Given the description of an element on the screen output the (x, y) to click on. 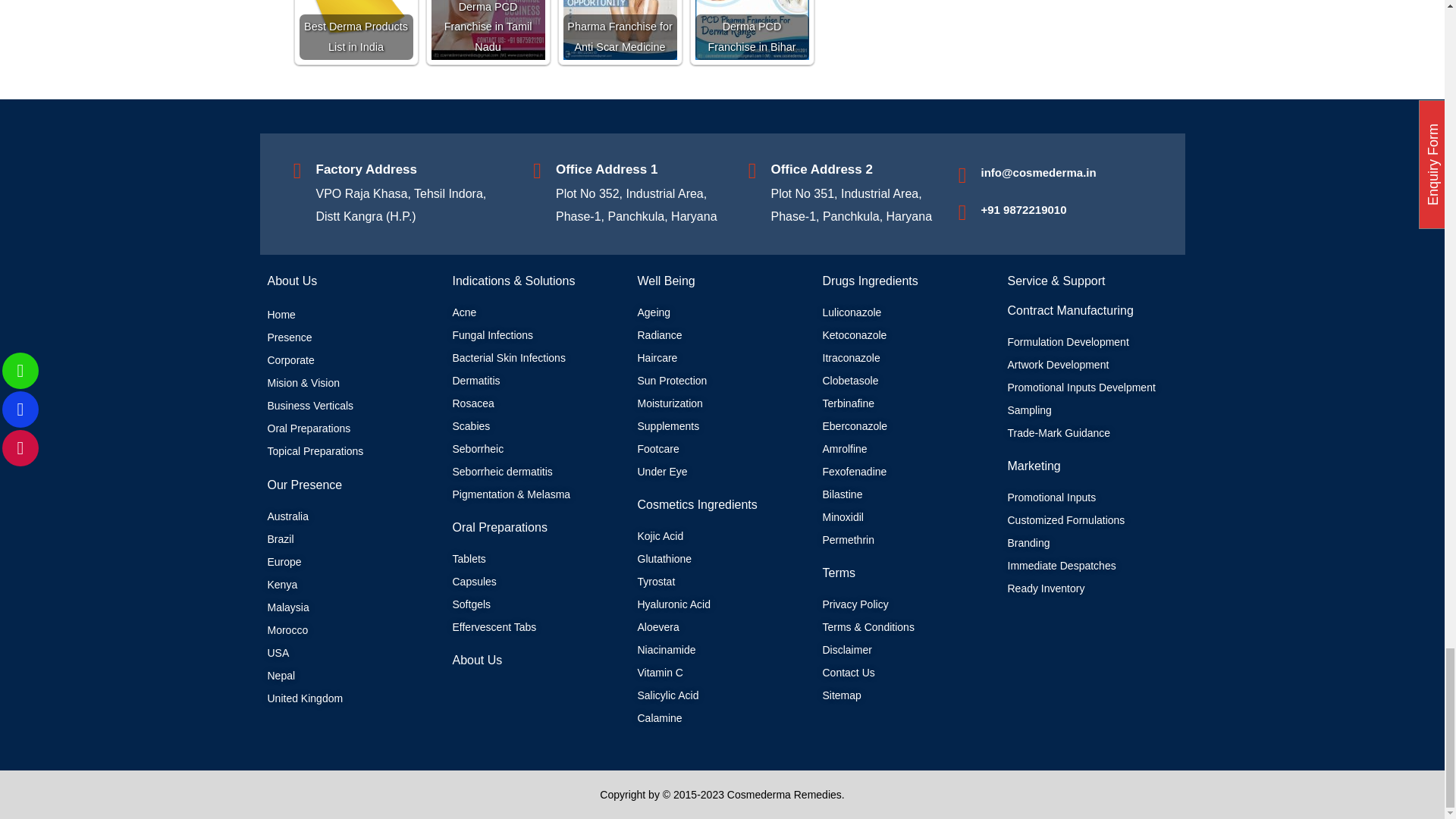
Derma PCD Franchise in Bihar (751, 29)
Pharma Franchise for Anti Scar Medicine (619, 29)
Best Derma Products List in India (355, 29)
Derma PCD Franchise in Tamil Nadu (487, 29)
